Given the description of an element on the screen output the (x, y) to click on. 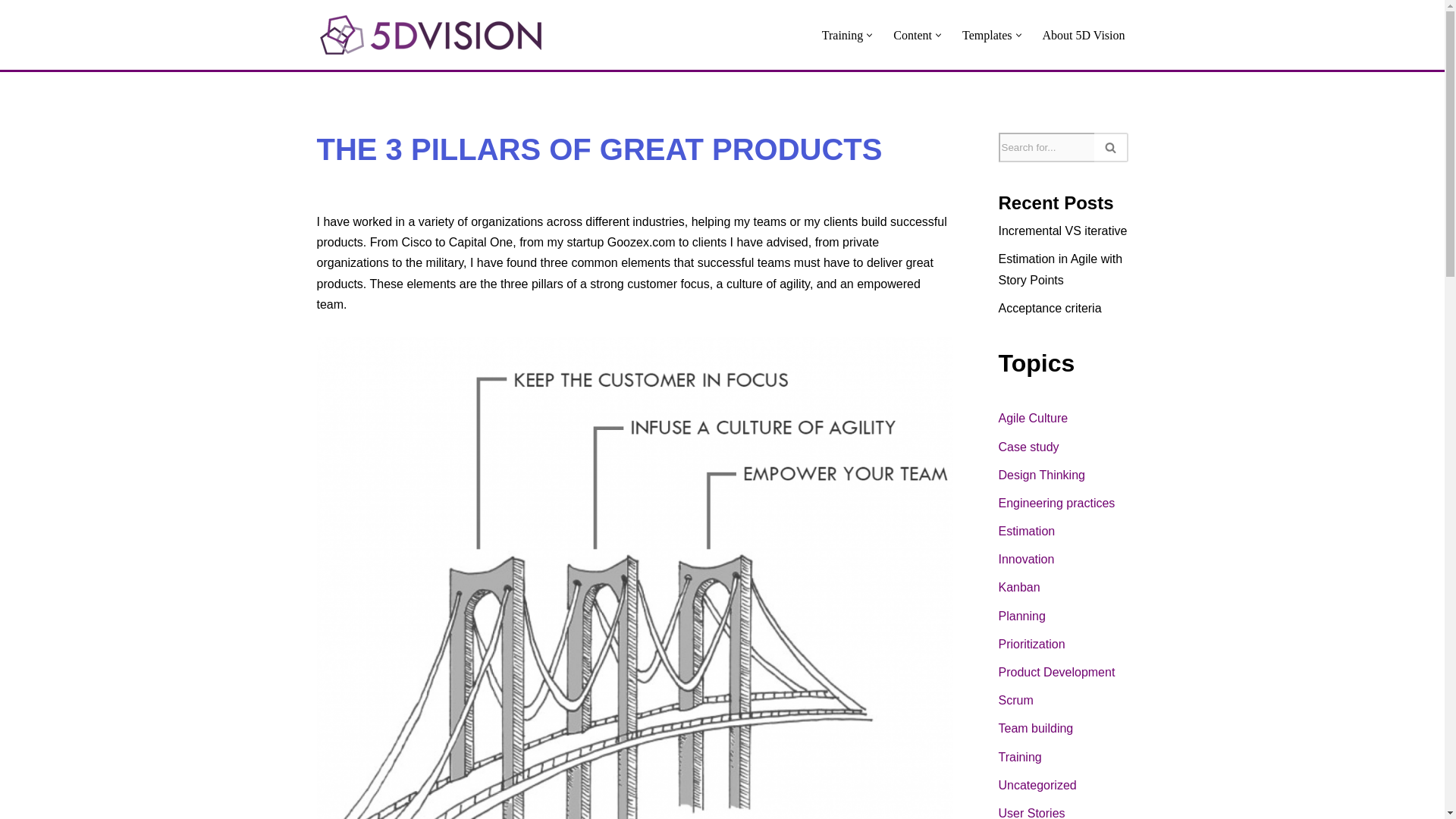
Training (842, 35)
About 5D Vision (1083, 35)
Content (912, 35)
Templates (986, 35)
Skip to content (11, 31)
